Given the description of an element on the screen output the (x, y) to click on. 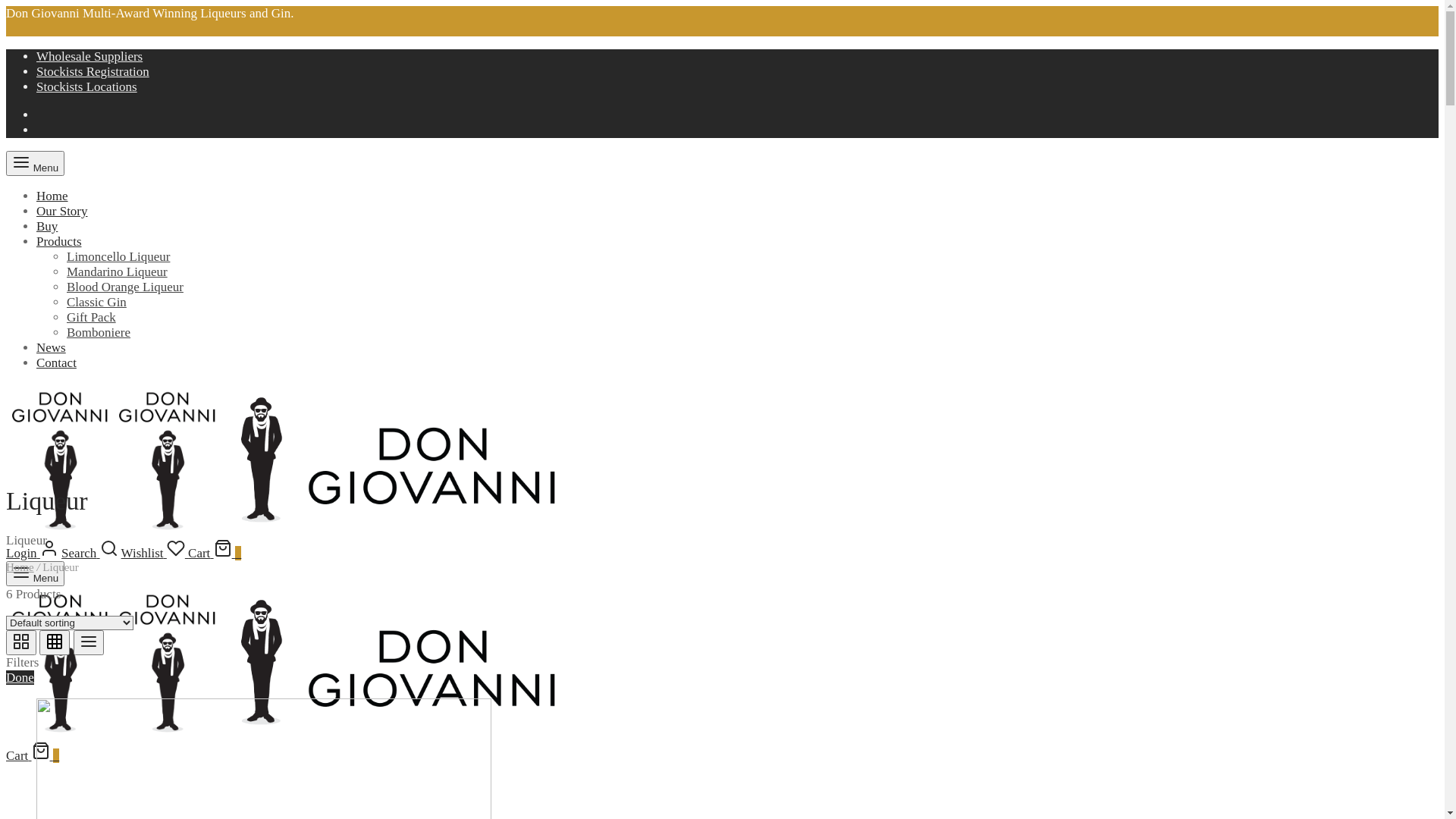
Limoncello Liqueur Element type: text (117, 256)
Login Element type: text (32, 553)
Cart 0 Element type: text (214, 553)
Stockists Locations Element type: text (86, 86)
Menu Element type: text (35, 162)
Bomboniere Element type: text (98, 332)
Done Element type: text (20, 677)
Contact Element type: text (56, 362)
Stockists Registration Element type: text (92, 71)
Products Element type: text (58, 241)
Home Element type: text (52, 195)
Home Element type: text (20, 567)
Gift Pack Element type: text (91, 317)
Buy Element type: text (46, 226)
Mandarino Liqueur Element type: text (116, 271)
Our Story Element type: text (61, 210)
News Element type: text (50, 347)
Blood Orange Liqueur Element type: text (124, 286)
Menu Element type: text (35, 573)
Search Element type: text (89, 553)
Cart 0 Element type: text (32, 755)
Classic Gin Element type: text (96, 301)
Wishlist Element type: text (154, 553)
Wholesale Suppliers Element type: text (89, 56)
